Given the description of an element on the screen output the (x, y) to click on. 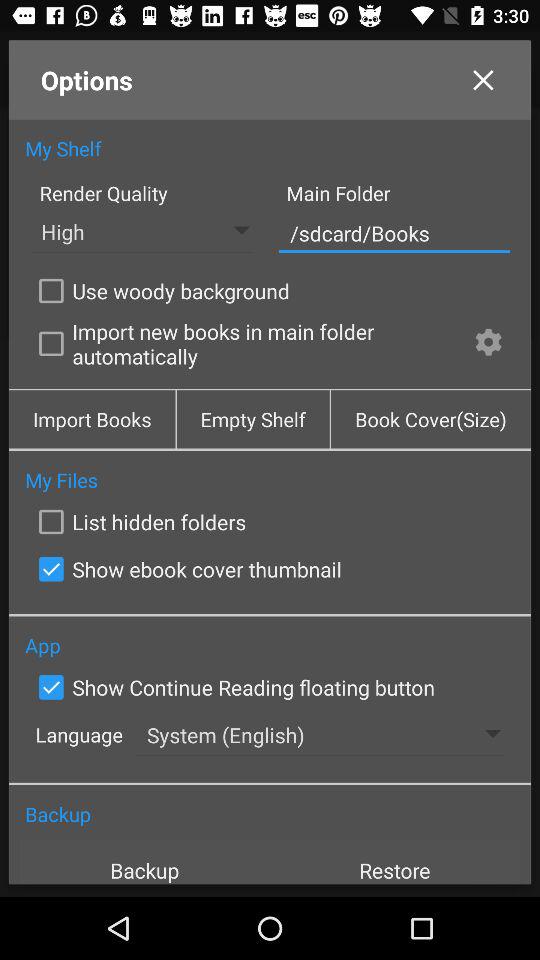
scroll until use woody background (159, 290)
